Given the description of an element on the screen output the (x, y) to click on. 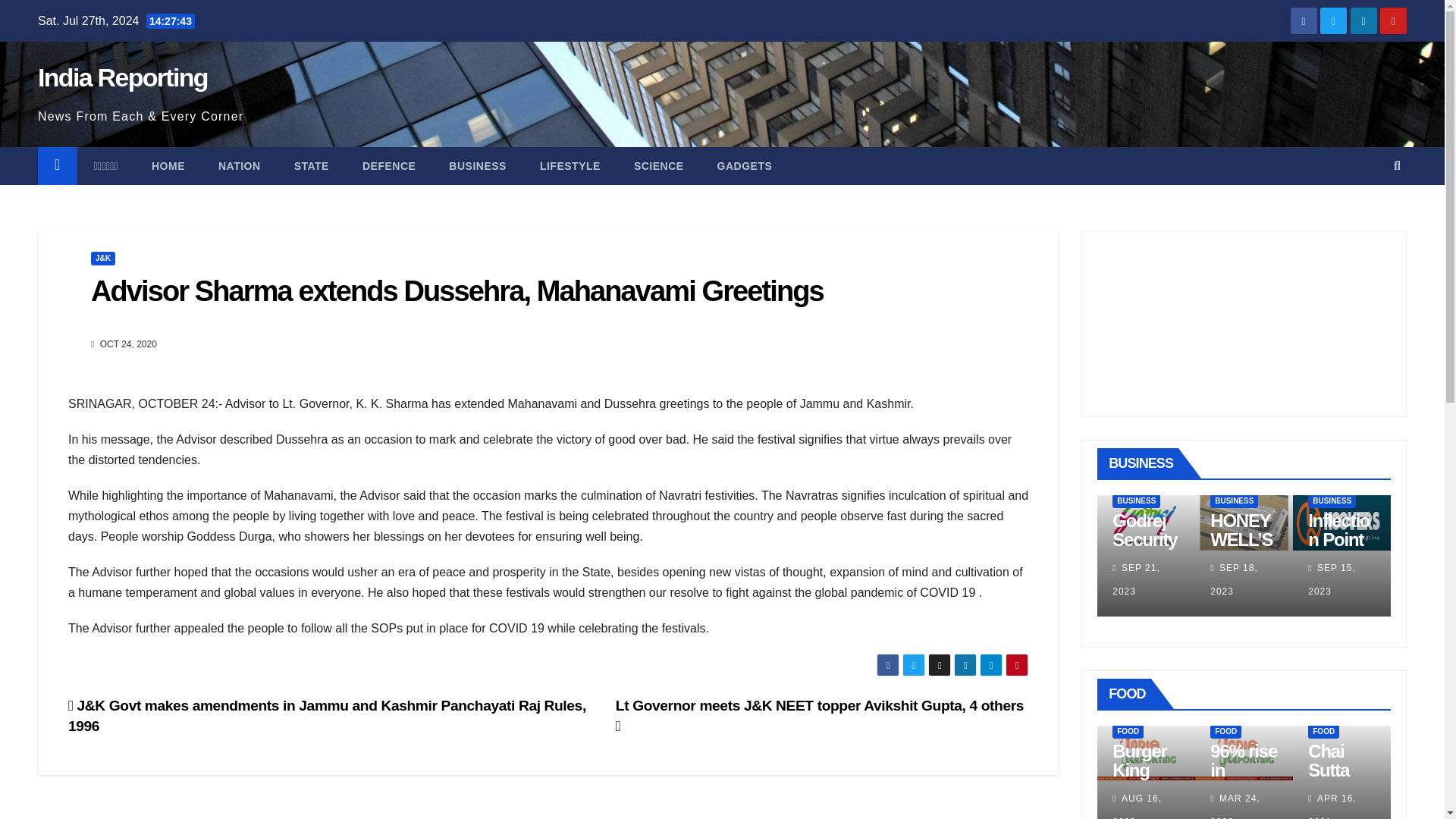
Gadgets (744, 166)
BUSINESS (1136, 500)
LIFESTYLE (569, 166)
State (312, 166)
DEFENCE (389, 166)
NATION (240, 166)
STATE (312, 166)
India Reporting (122, 77)
Defence (389, 166)
Science (658, 166)
Lifestyle (569, 166)
GADGETS (744, 166)
SCIENCE (658, 166)
Business (477, 166)
